Given the description of an element on the screen output the (x, y) to click on. 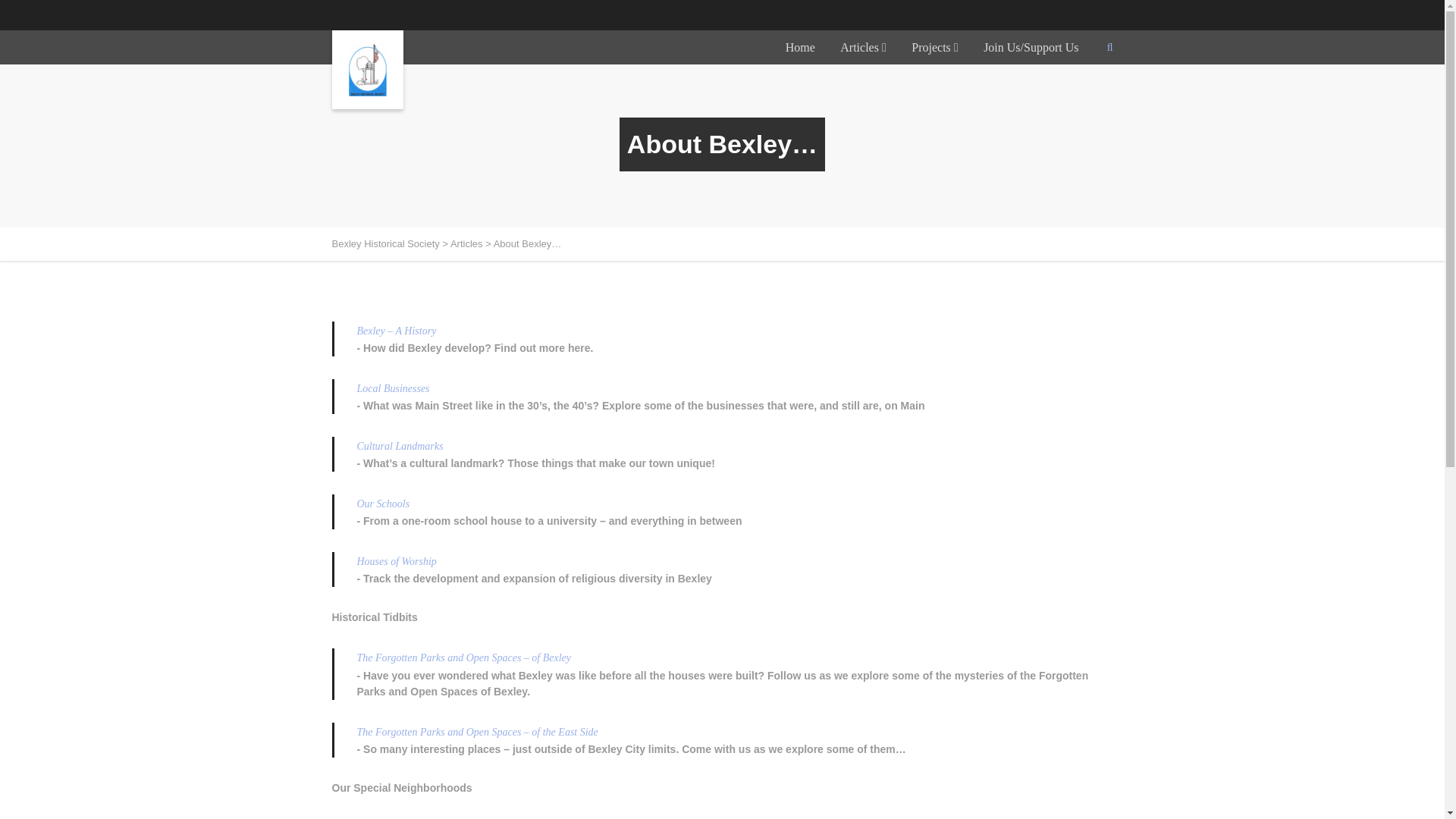
Articles (863, 47)
Local Businesses (392, 388)
Bexley Historical Society (385, 243)
Projects (934, 47)
Articles (466, 243)
Our Schools (382, 503)
Go to Bexley Historical Society. (385, 243)
Go to Articles. (466, 243)
Cultural Landmarks (399, 446)
Houses of Worship (395, 561)
